Given the description of an element on the screen output the (x, y) to click on. 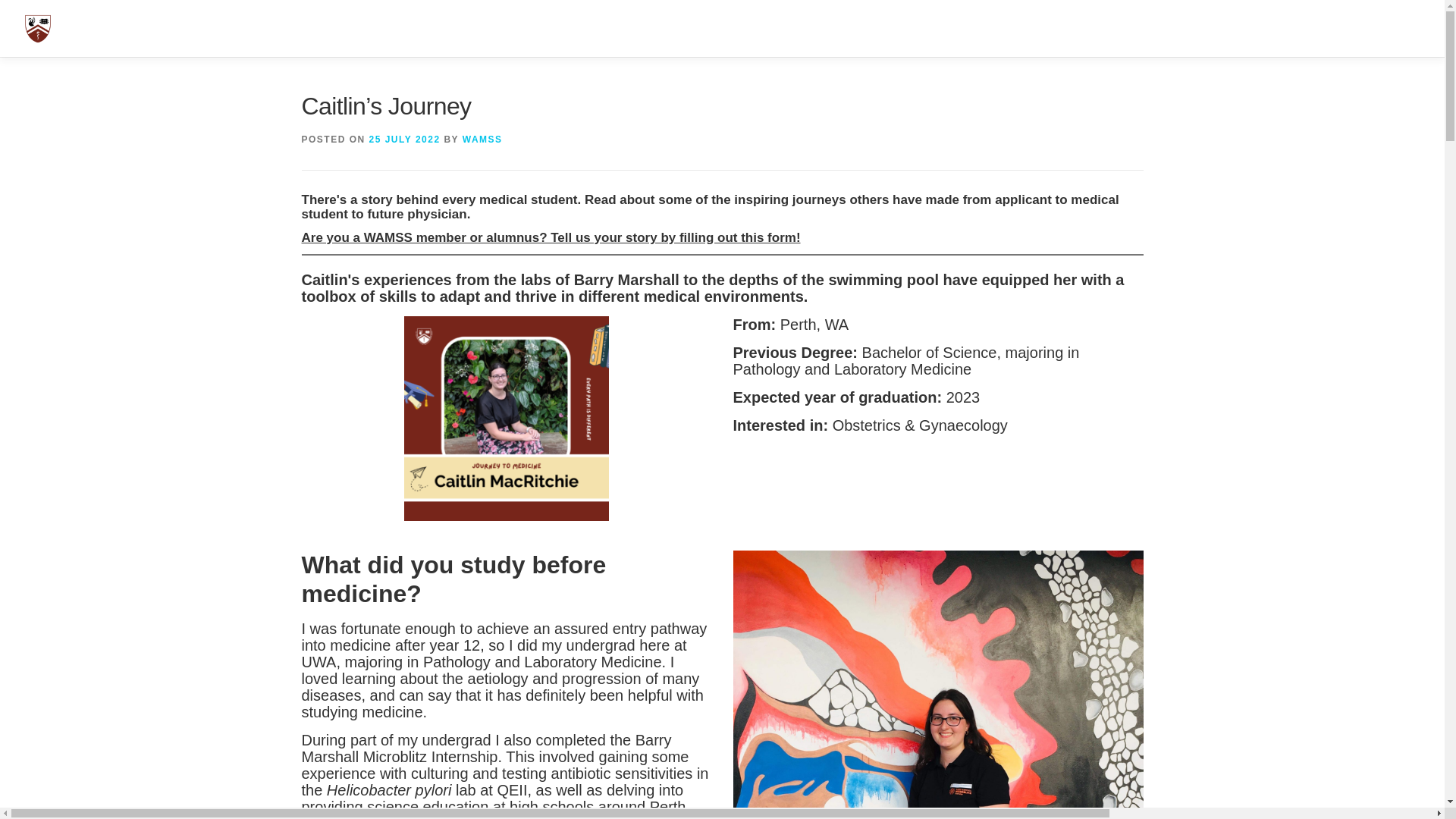
GET INVOLVED (1250, 28)
LOG IN (1396, 28)
WAMSS (482, 139)
EVENTS (1161, 28)
MERCH (1337, 28)
STUDENTS (1084, 28)
ABOUT (958, 28)
JOIN (722, 28)
25 JULY 2022 (1016, 28)
